Given the description of an element on the screen output the (x, y) to click on. 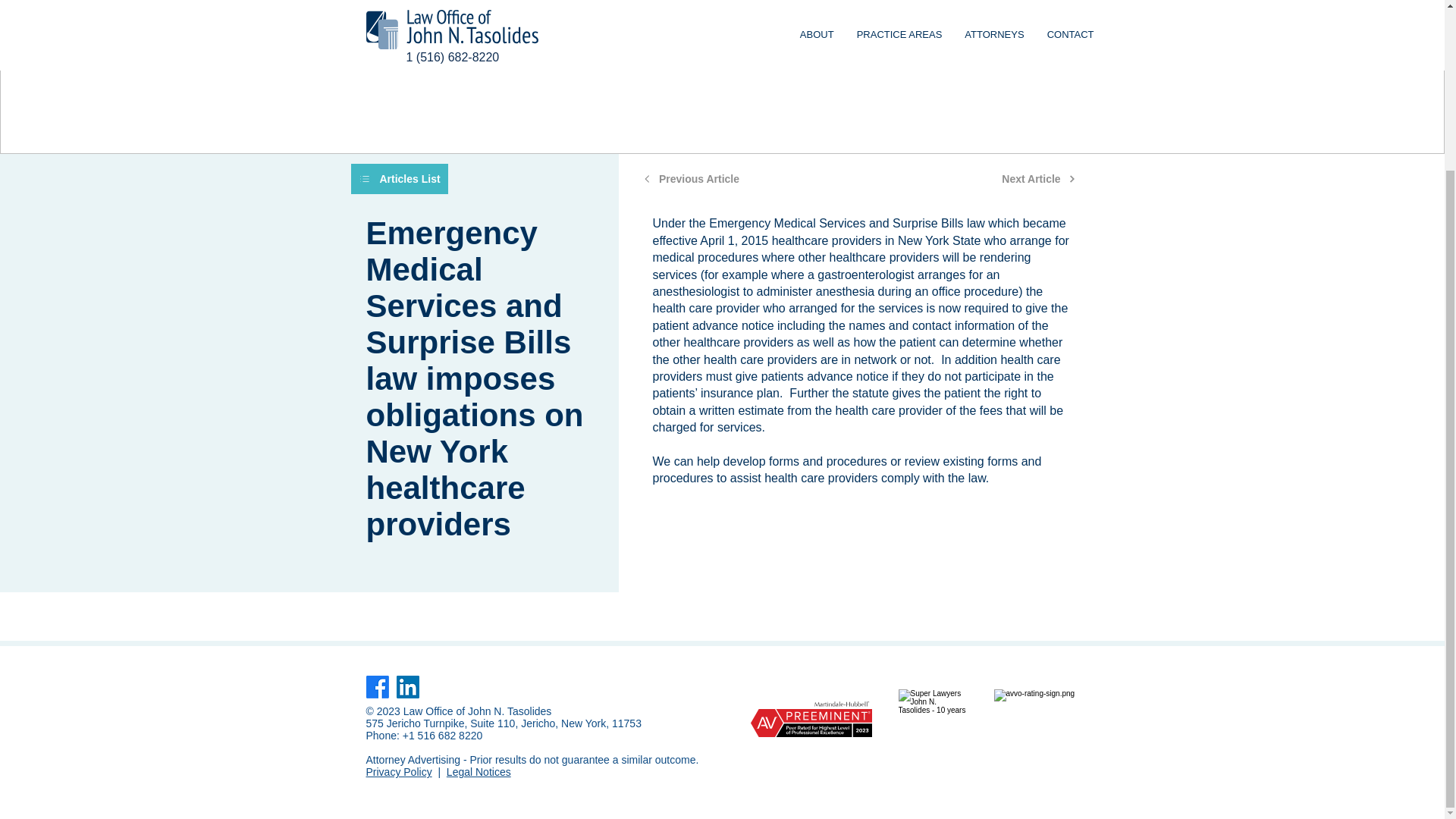
Law Office of John N. Tasolides (477, 711)
Previous Article (691, 178)
Privacy Policy (397, 771)
Legal Notices (478, 771)
Articles List (398, 178)
Next Article (1039, 178)
